Given the description of an element on the screen output the (x, y) to click on. 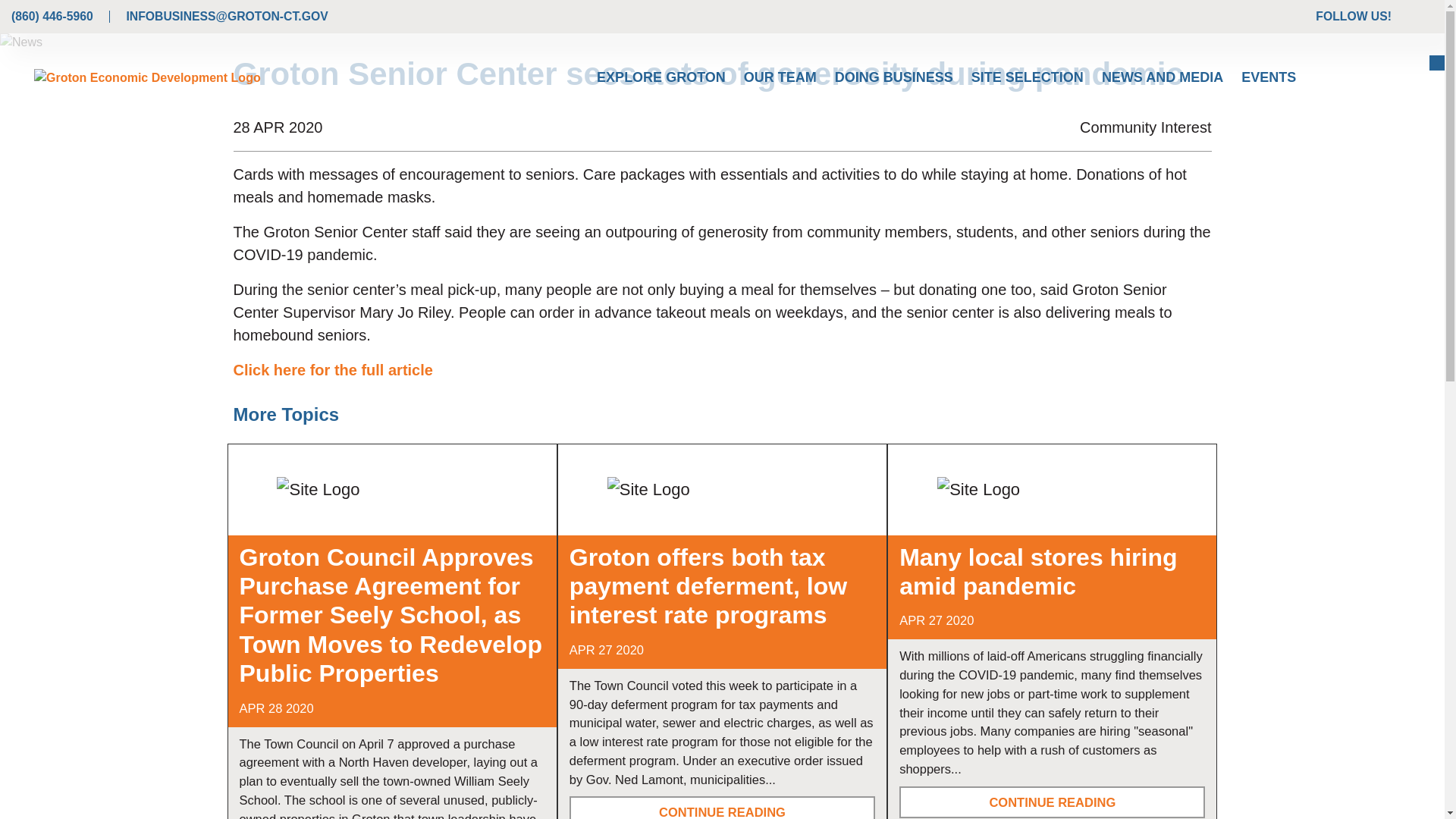
OUR TEAM (780, 77)
EXPLORE GROTON (661, 77)
DOING BUSINESS (893, 77)
SITE SELECTION (1027, 77)
